Given the description of an element on the screen output the (x, y) to click on. 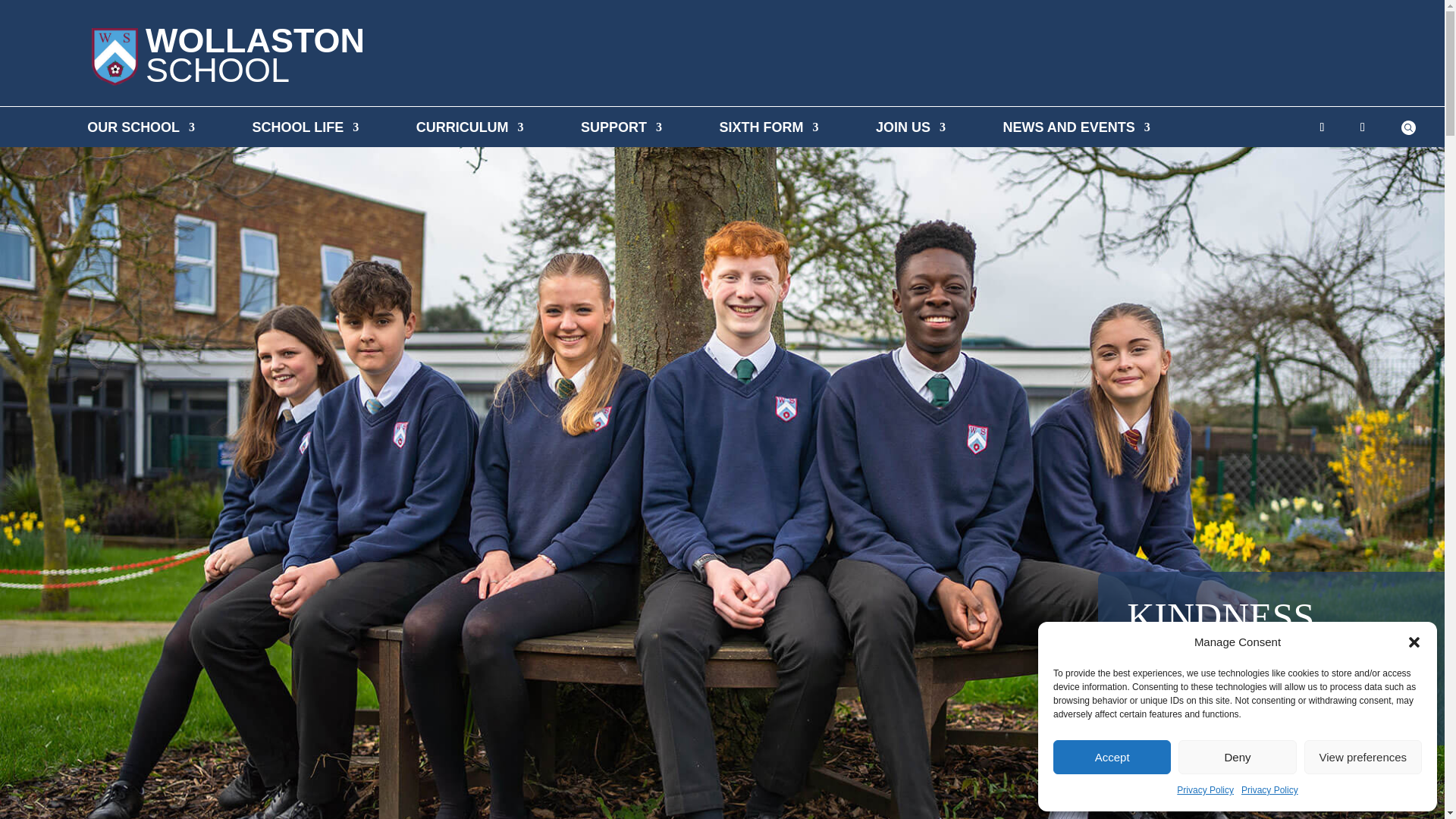
View preferences (1363, 756)
CURRICULUM (470, 130)
Privacy Policy (1269, 791)
OUR SCHOOL (141, 130)
Deny (1236, 756)
Accept (1111, 756)
SCHOOL LIFE (305, 130)
Follow on X (1320, 127)
Follow on Facebook (1362, 127)
Privacy Policy (1204, 791)
